Given the description of an element on the screen output the (x, y) to click on. 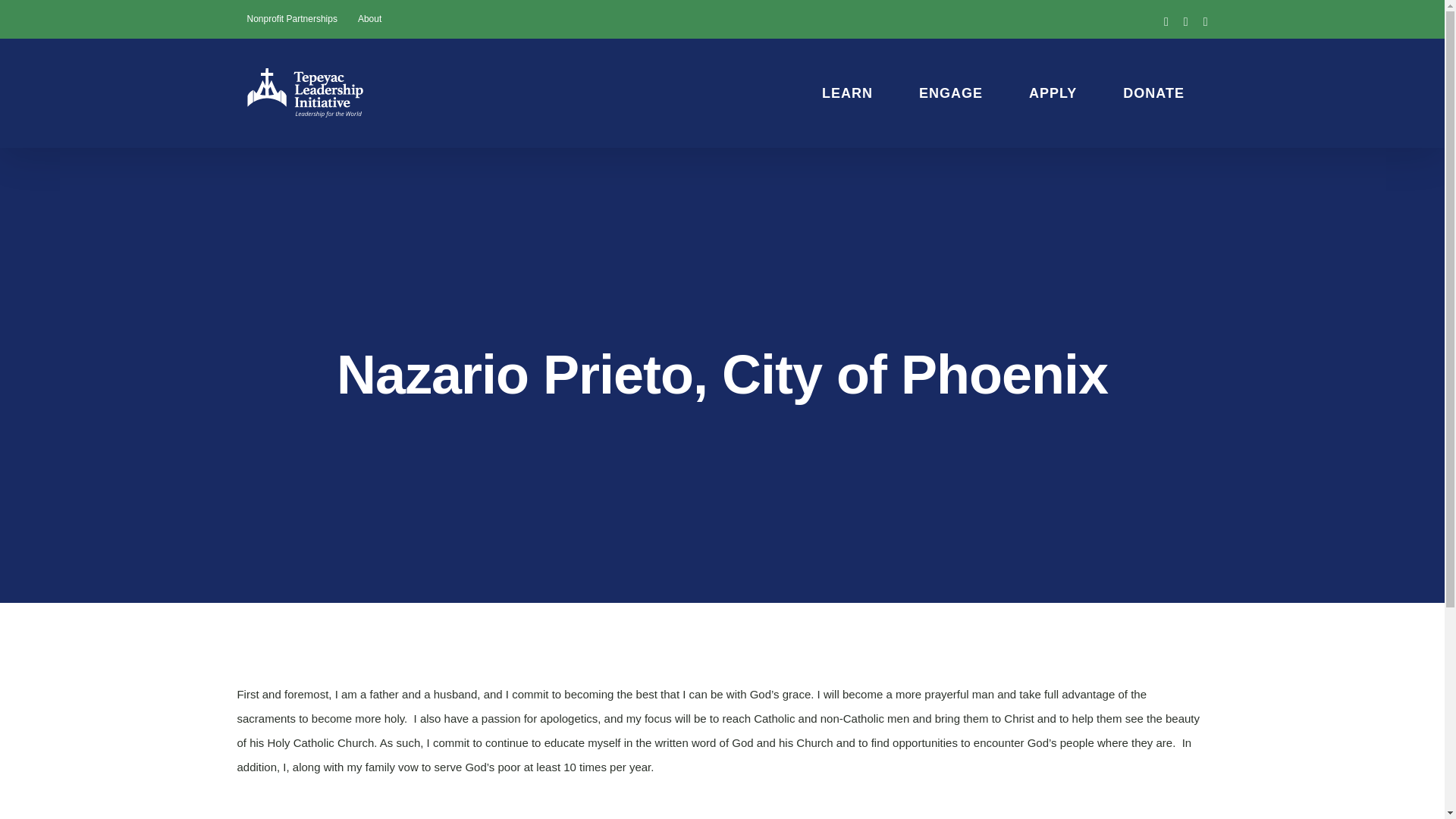
ENGAGE (950, 92)
DONATE (1154, 92)
LEARN (846, 92)
Nonprofit Partnerships (290, 18)
About (369, 18)
